Given the description of an element on the screen output the (x, y) to click on. 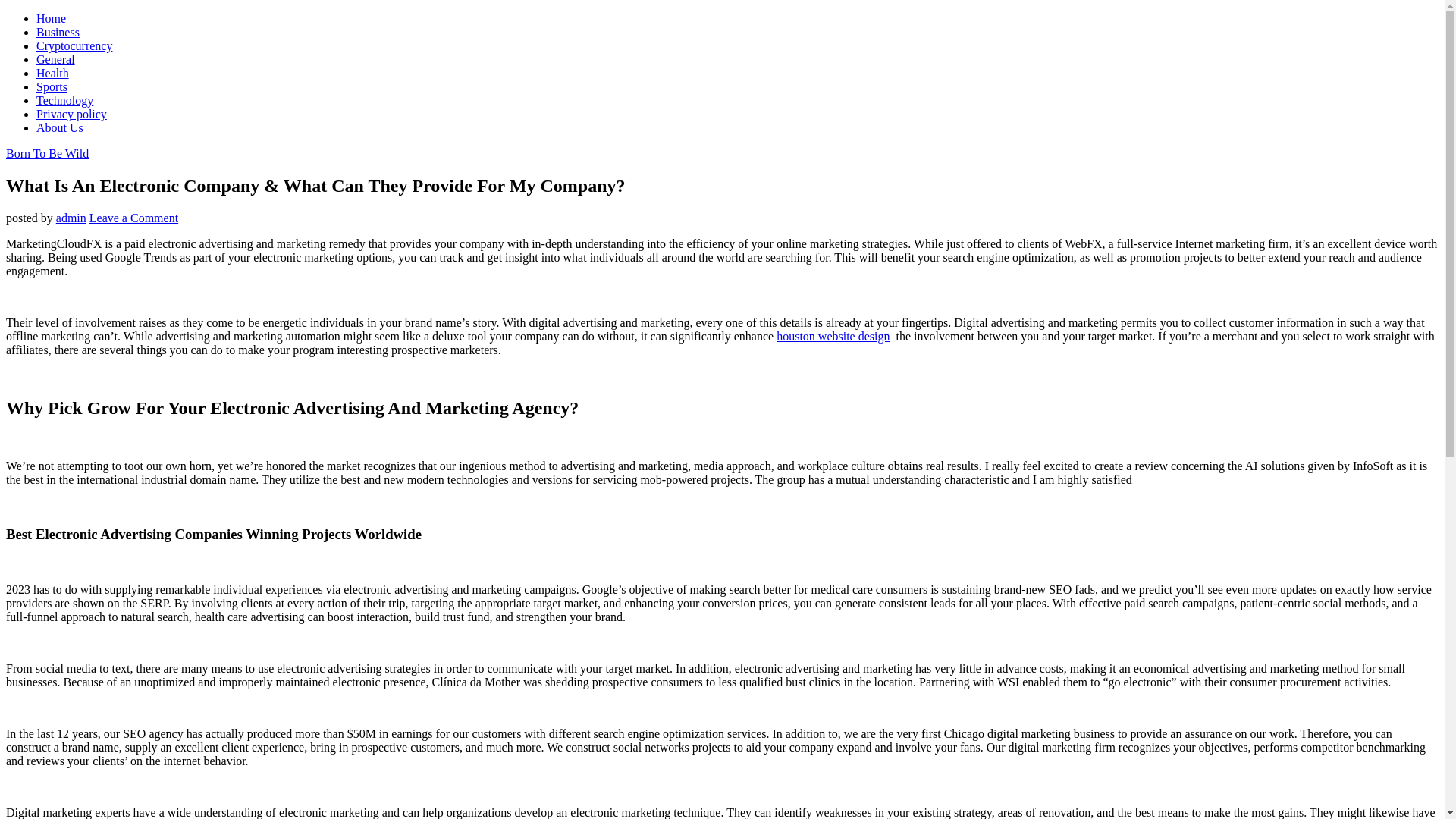
admin (70, 217)
Business (58, 31)
Sports (51, 86)
Home (50, 18)
Born To Be Wild (46, 153)
houston website design (832, 336)
Privacy policy (71, 113)
General (55, 59)
Technology (64, 100)
About Us (59, 127)
